Given the description of an element on the screen output the (x, y) to click on. 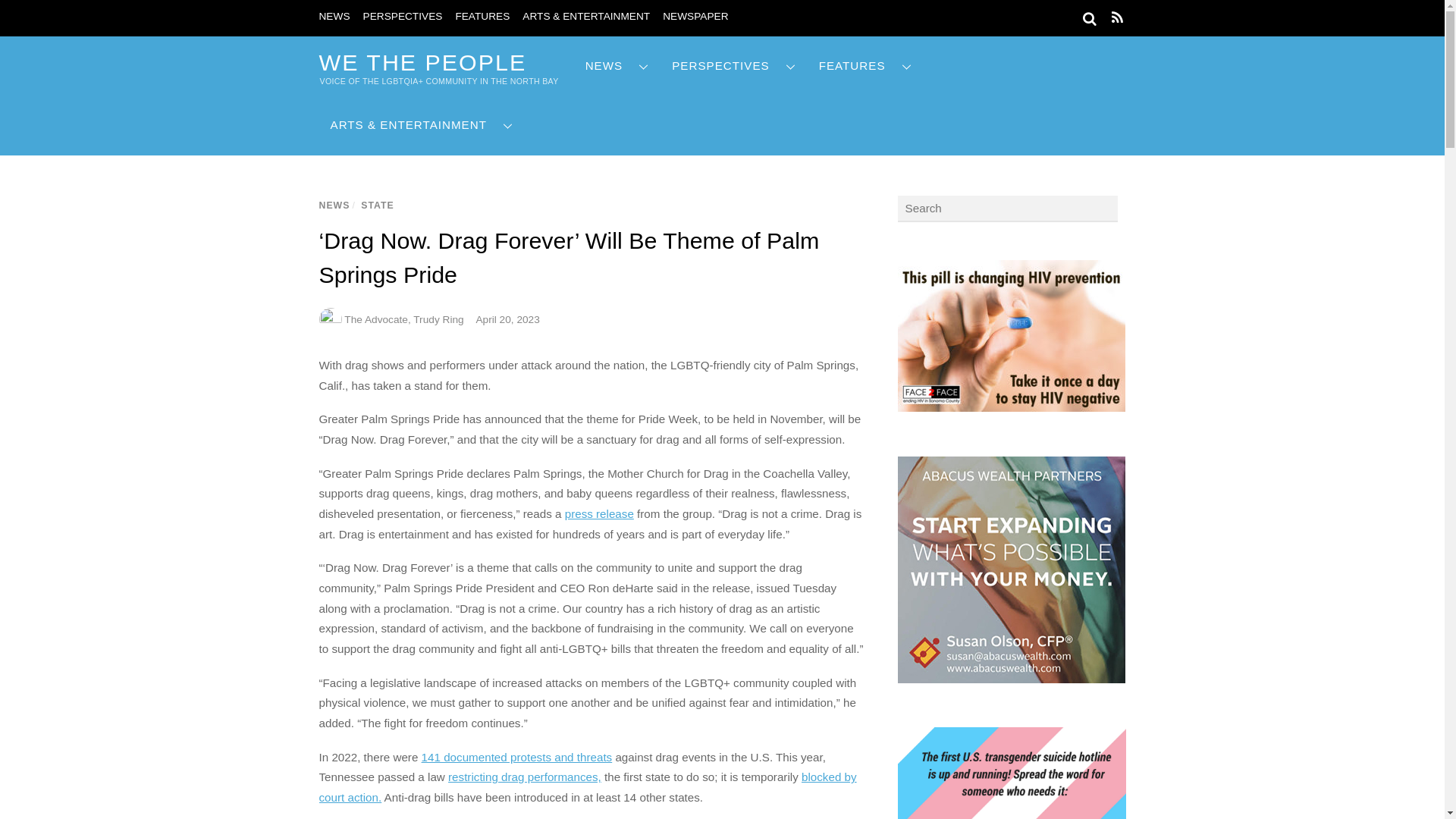
NEWS (617, 66)
NEWS (333, 16)
FEATURES (481, 16)
WE THE PEOPLE (421, 62)
PERSPECTIVES (402, 16)
We The People (421, 62)
NEWSPAPER (695, 16)
